Given the description of an element on the screen output the (x, y) to click on. 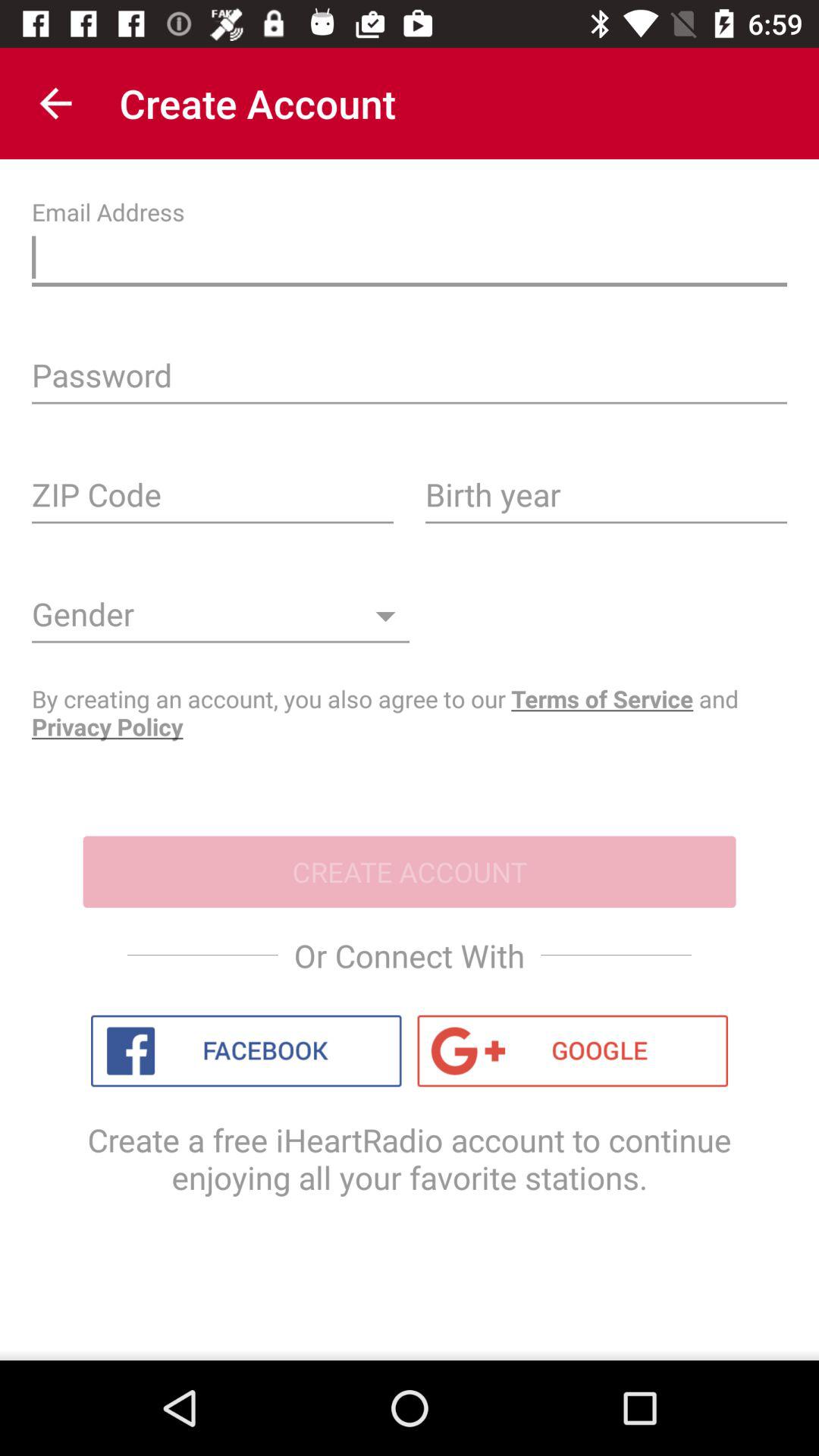
choose item above the create account item (409, 712)
